Given the description of an element on the screen output the (x, y) to click on. 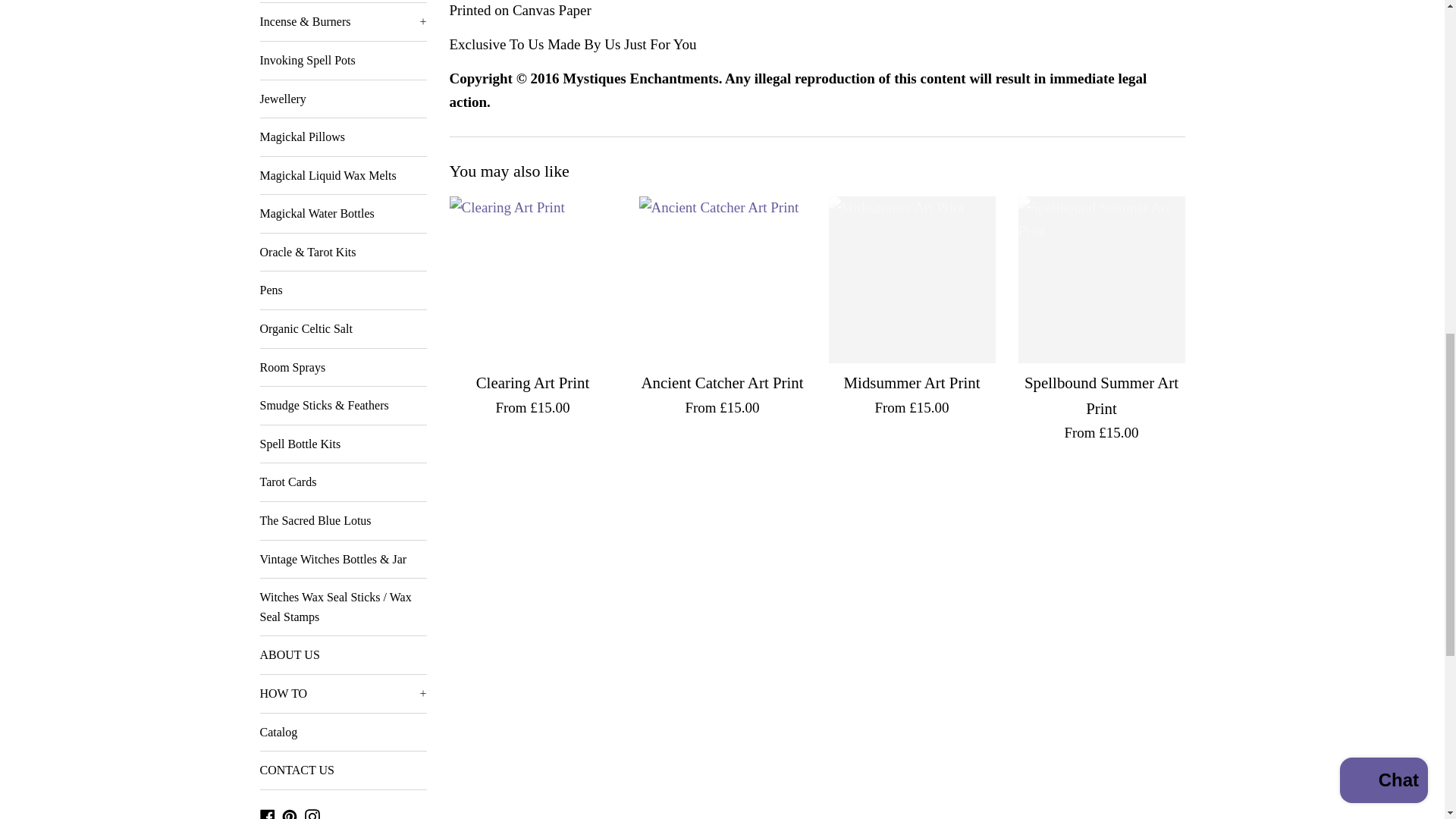
Ancient Catcher Art Print (722, 279)
Spellbound Summer Art Print (1101, 279)
Midsummer Art Print (911, 279)
Clearing Art Print (531, 279)
